Given the description of an element on the screen output the (x, y) to click on. 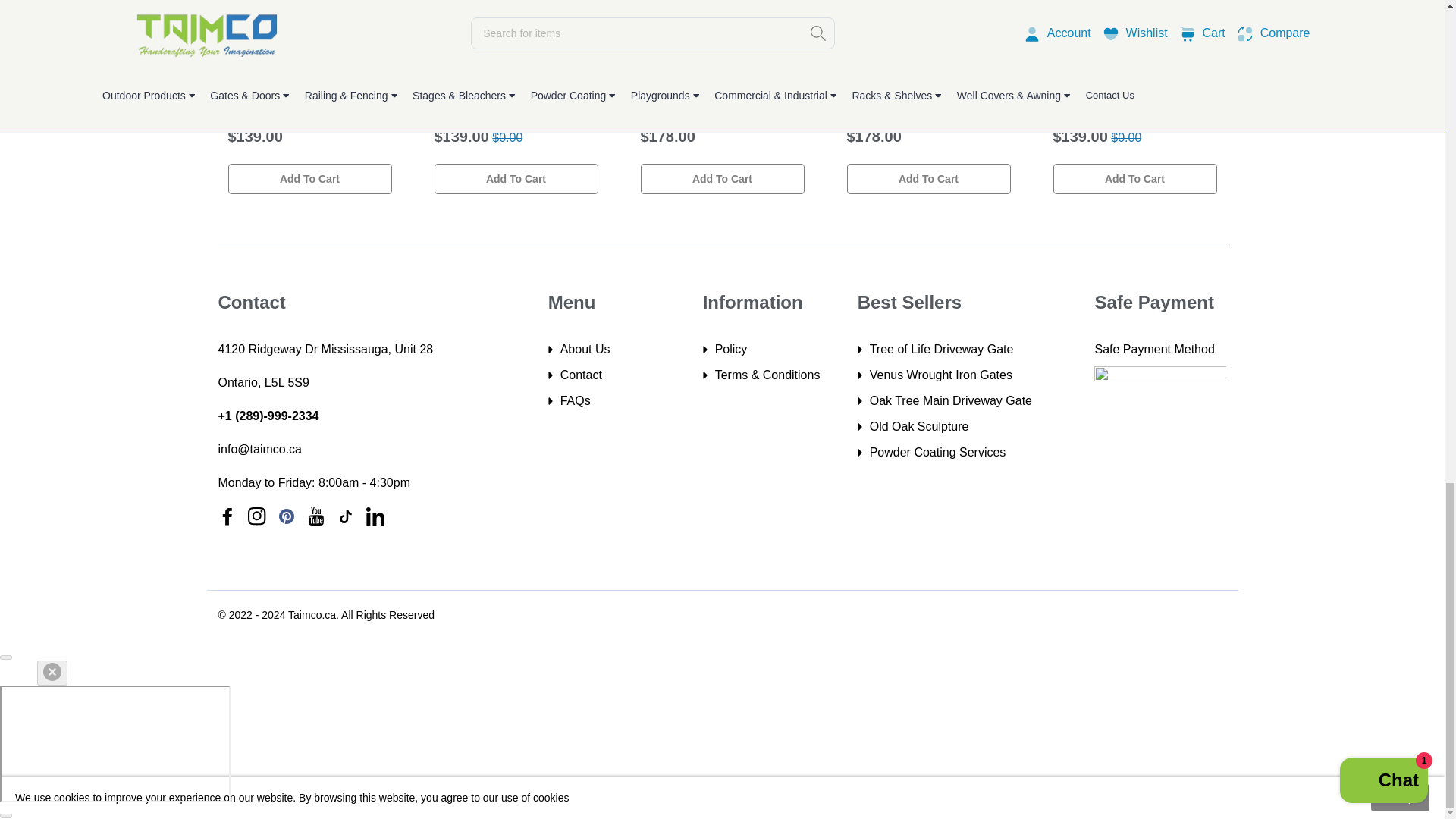
Taimco (862, 91)
Taimco (1069, 91)
Taimco (450, 91)
Taimco (243, 91)
Taimco (656, 91)
